Given the description of an element on the screen output the (x, y) to click on. 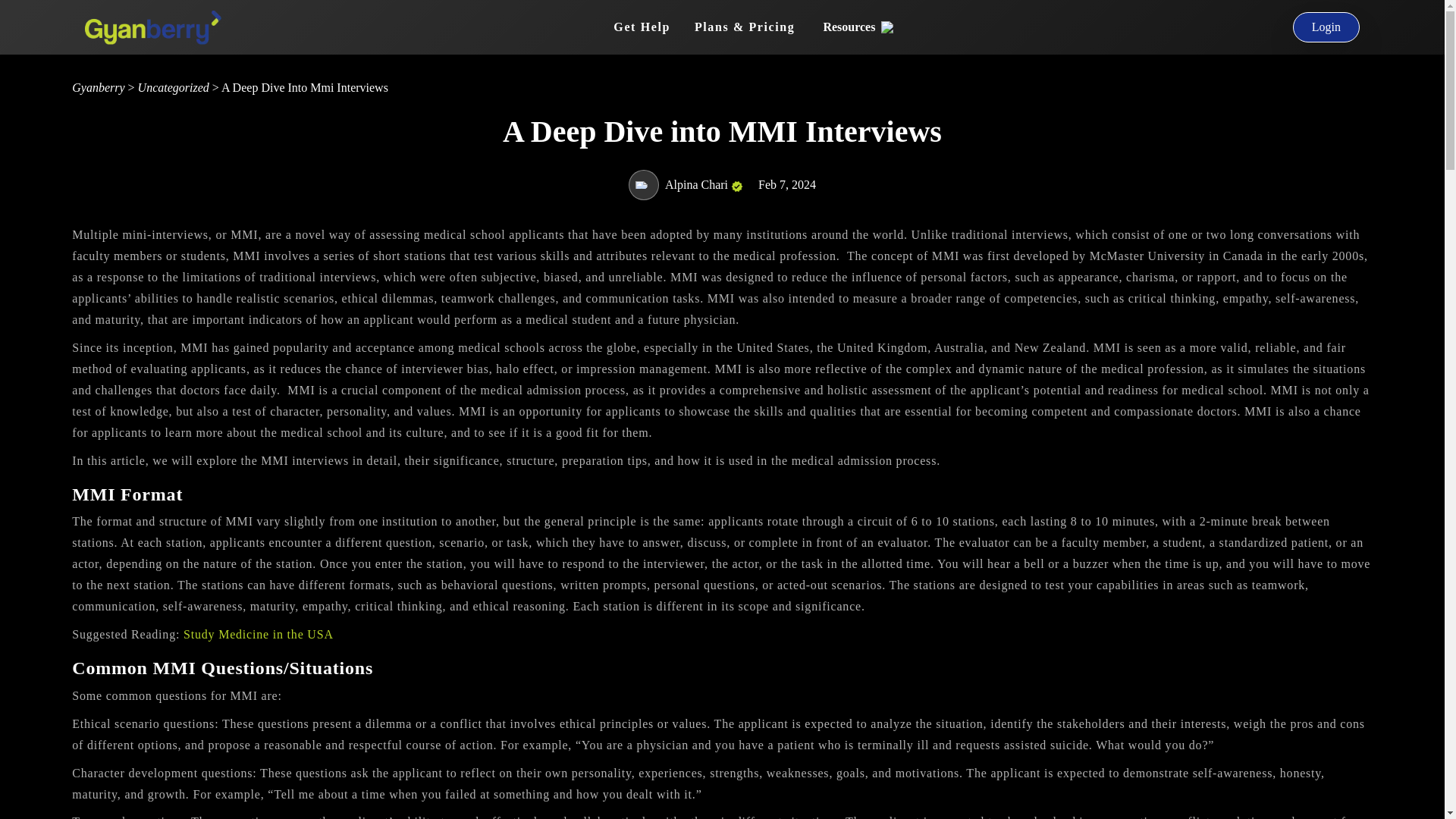
Gyanberry (99, 87)
Study Medicine in the USA (258, 634)
Uncategorized (173, 87)
Get Help (640, 27)
Resources (858, 27)
Login (1325, 27)
